Given the description of an element on the screen output the (x, y) to click on. 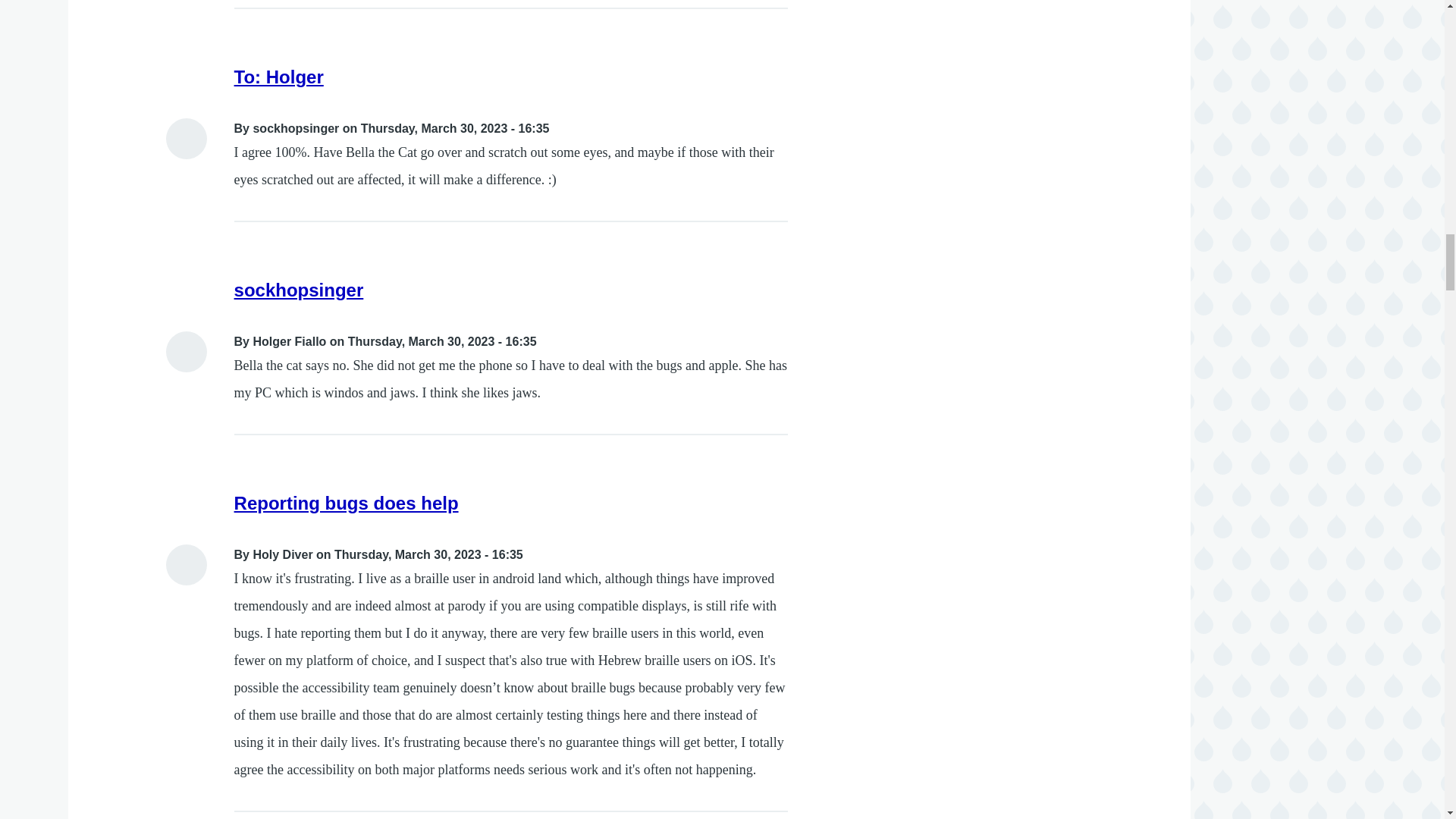
Reporting bugs does help (346, 503)
To: Holger (278, 76)
sockhopsinger (299, 290)
